Given the description of an element on the screen output the (x, y) to click on. 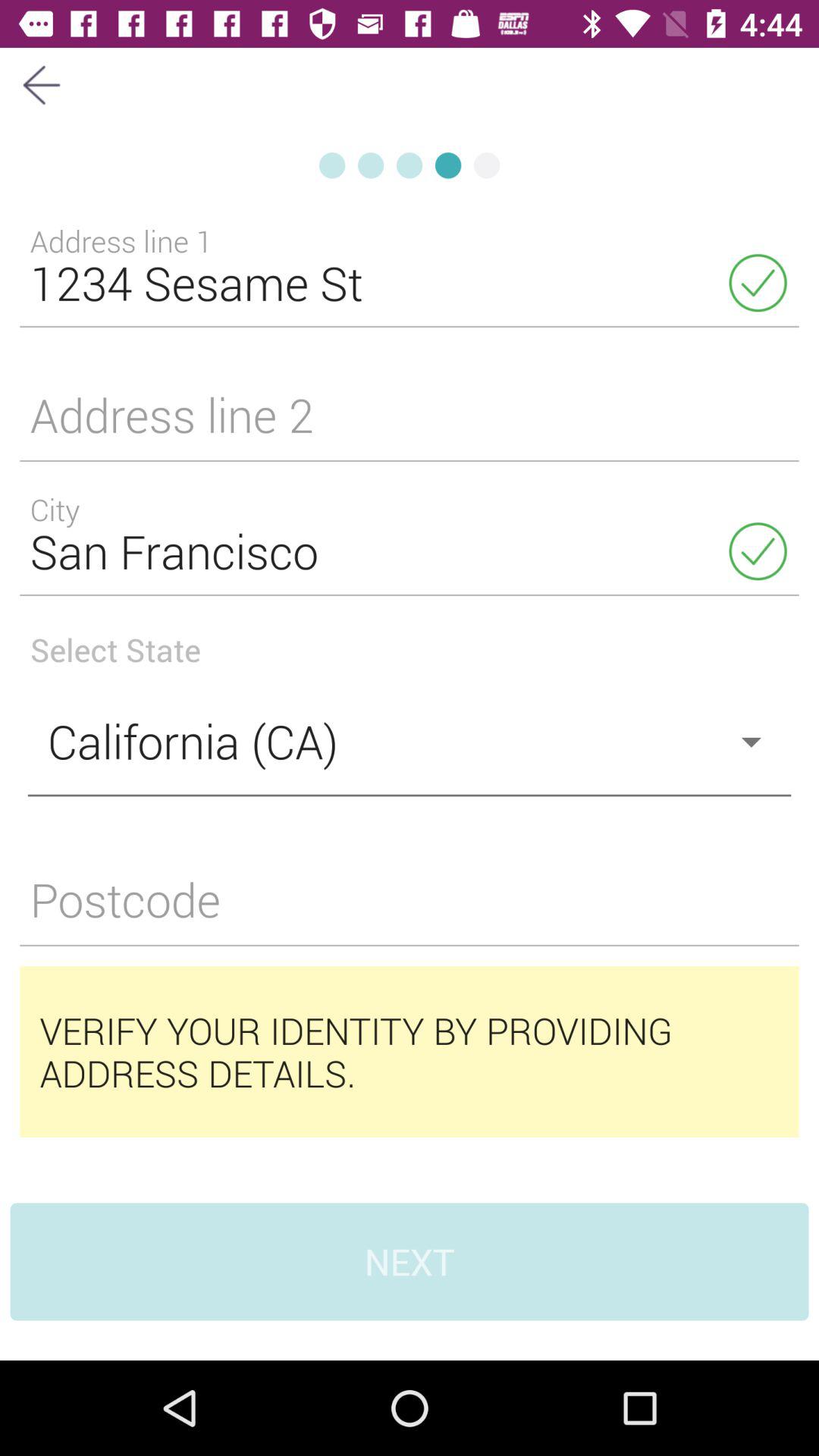
allows to enter second address (409, 423)
